Given the description of an element on the screen output the (x, y) to click on. 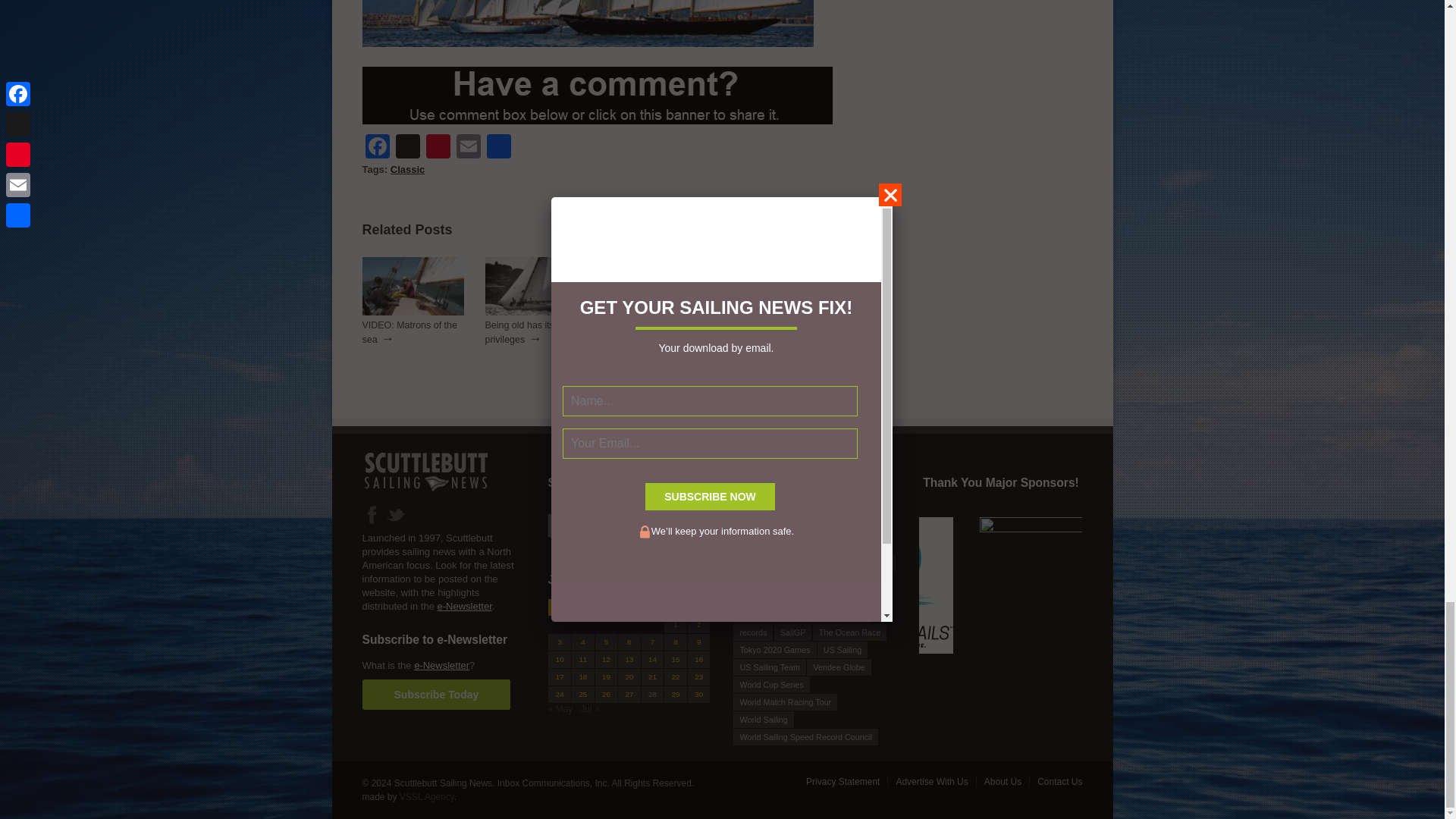
Being old has its privileges (535, 312)
Conversations with Classic Boats (647, 332)
VIDEO: Matrons of the sea (409, 332)
Email (467, 148)
Pinterest (437, 148)
Email (467, 148)
Conversations with Classic Boats (659, 312)
Being old has its privileges (519, 332)
X (408, 148)
Facebook (377, 148)
VIDEO: Matrons of the sea (413, 312)
Facebook (377, 148)
X (408, 148)
Pinterest (437, 148)
